Given the description of an element on the screen output the (x, y) to click on. 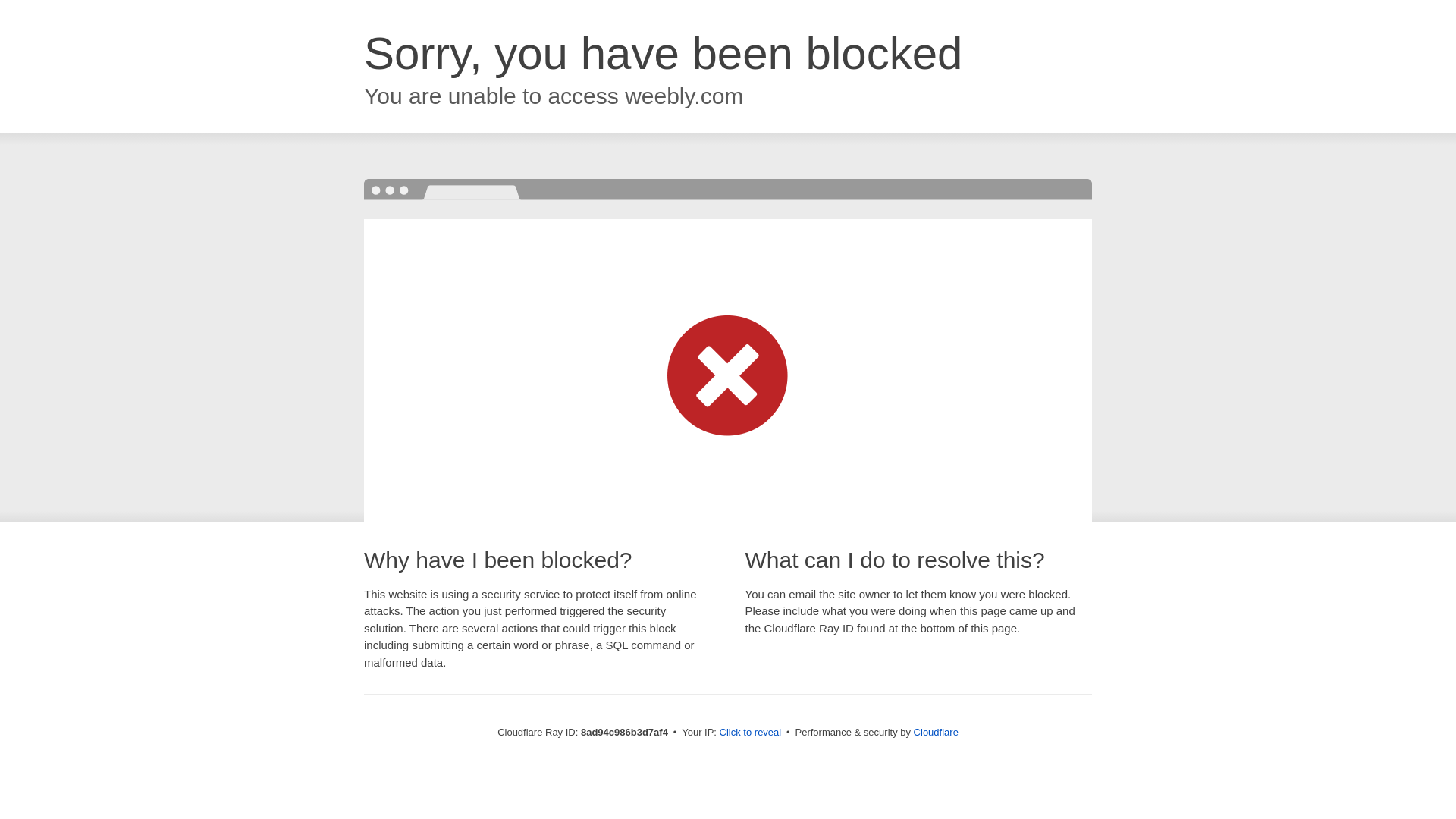
Cloudflare (936, 731)
Click to reveal (750, 732)
